Given the description of an element on the screen output the (x, y) to click on. 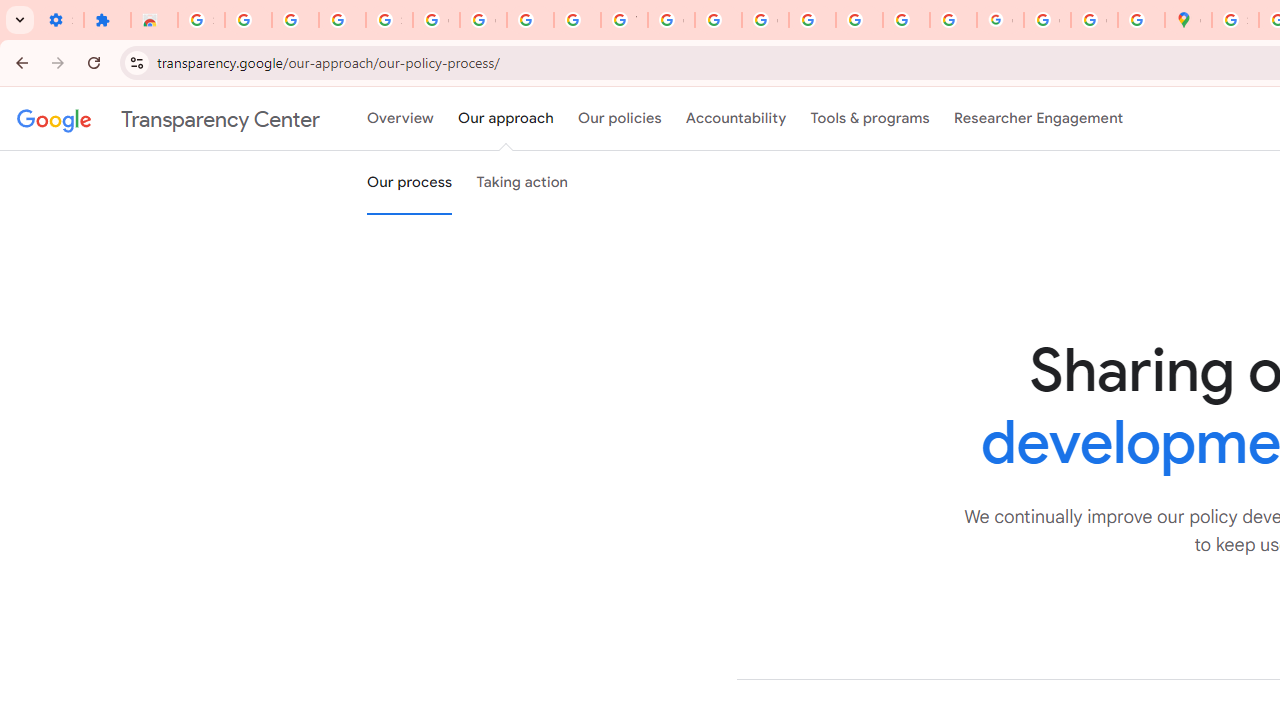
Sign in - Google Accounts (201, 20)
Sign in - Google Accounts (1235, 20)
Our approach (506, 119)
Transparency Center (167, 119)
Our policies (619, 119)
Reviews: Helix Fruit Jump Arcade Game (153, 20)
Settings - On startup (60, 20)
Our process (409, 183)
Privacy Help Center - Policies Help (811, 20)
Google Account Help (436, 20)
